Given the description of an element on the screen output the (x, y) to click on. 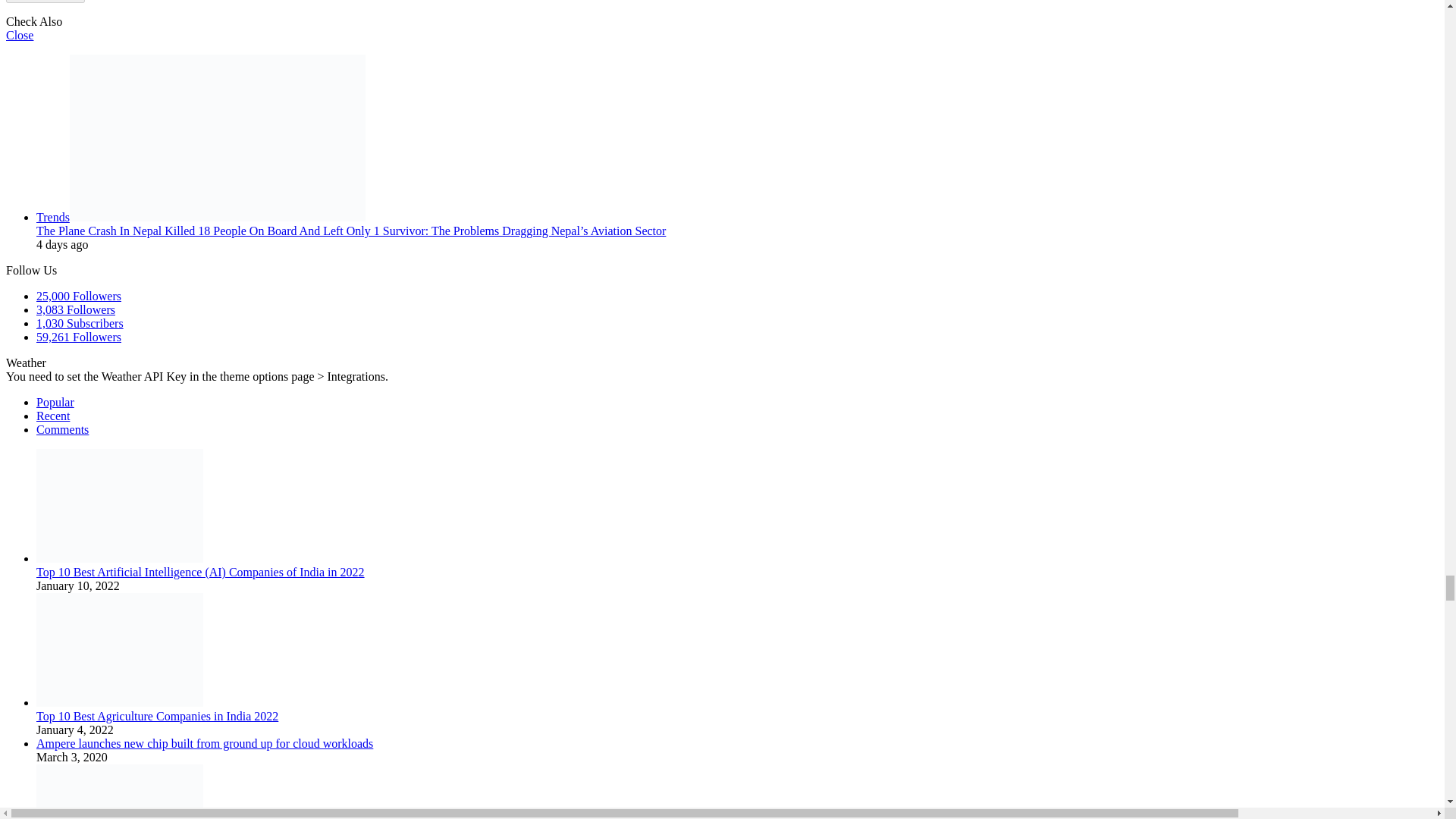
Post Comment (44, 1)
